Given the description of an element on the screen output the (x, y) to click on. 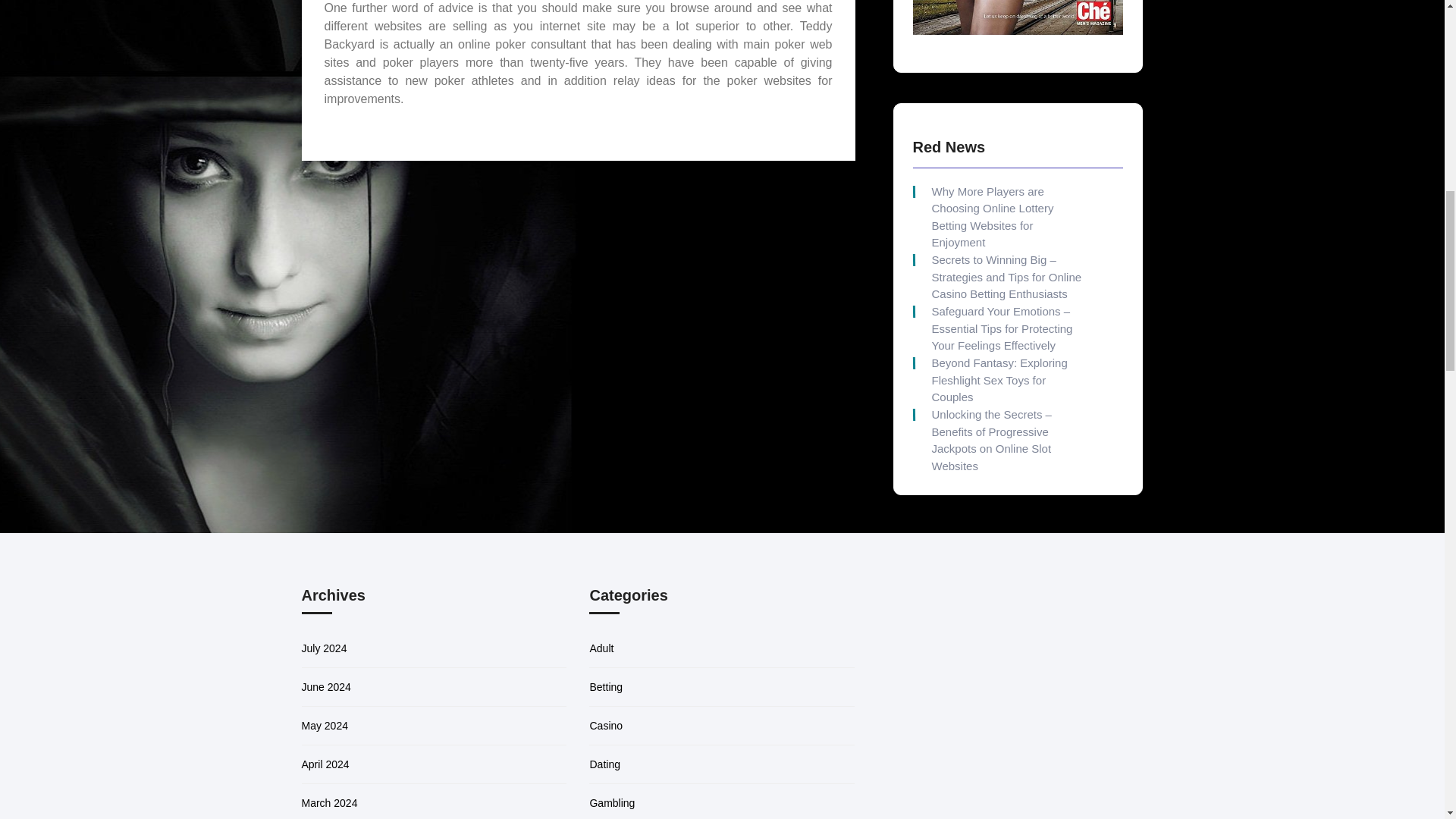
July 2024 (324, 630)
March 2024 (329, 785)
Beyond Fantasy: Exploring Fleshlight Sex Toys for Couples (1005, 312)
April 2024 (325, 746)
February 2024 (336, 818)
June 2024 (325, 669)
May 2024 (324, 707)
